Given the description of an element on the screen output the (x, y) to click on. 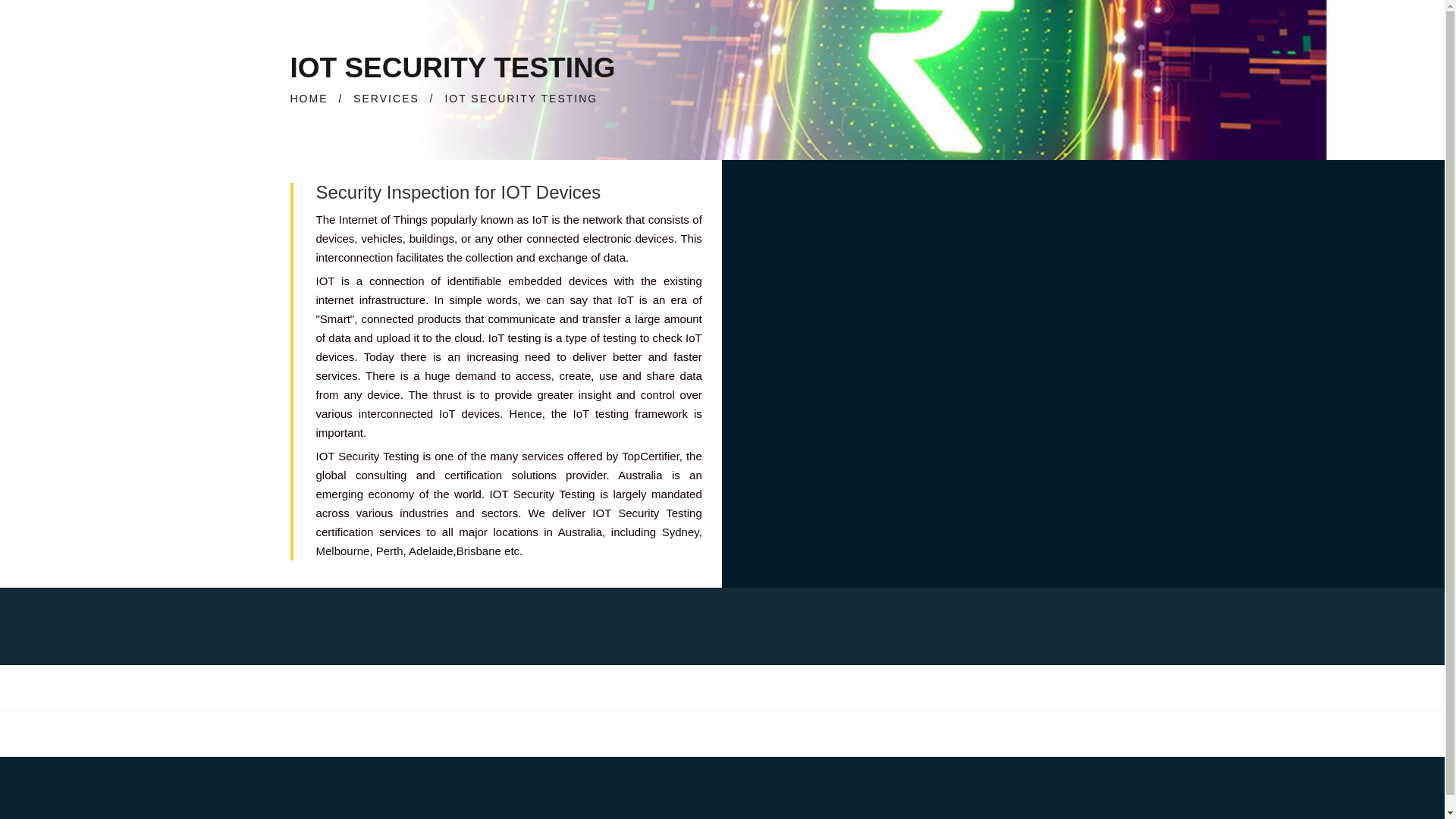
HOME (308, 98)
Adelaide (430, 550)
Perth (389, 550)
SERVICES (386, 98)
Melbourne (342, 550)
Brisbane (478, 550)
Sydney (680, 531)
